Given the description of an element on the screen output the (x, y) to click on. 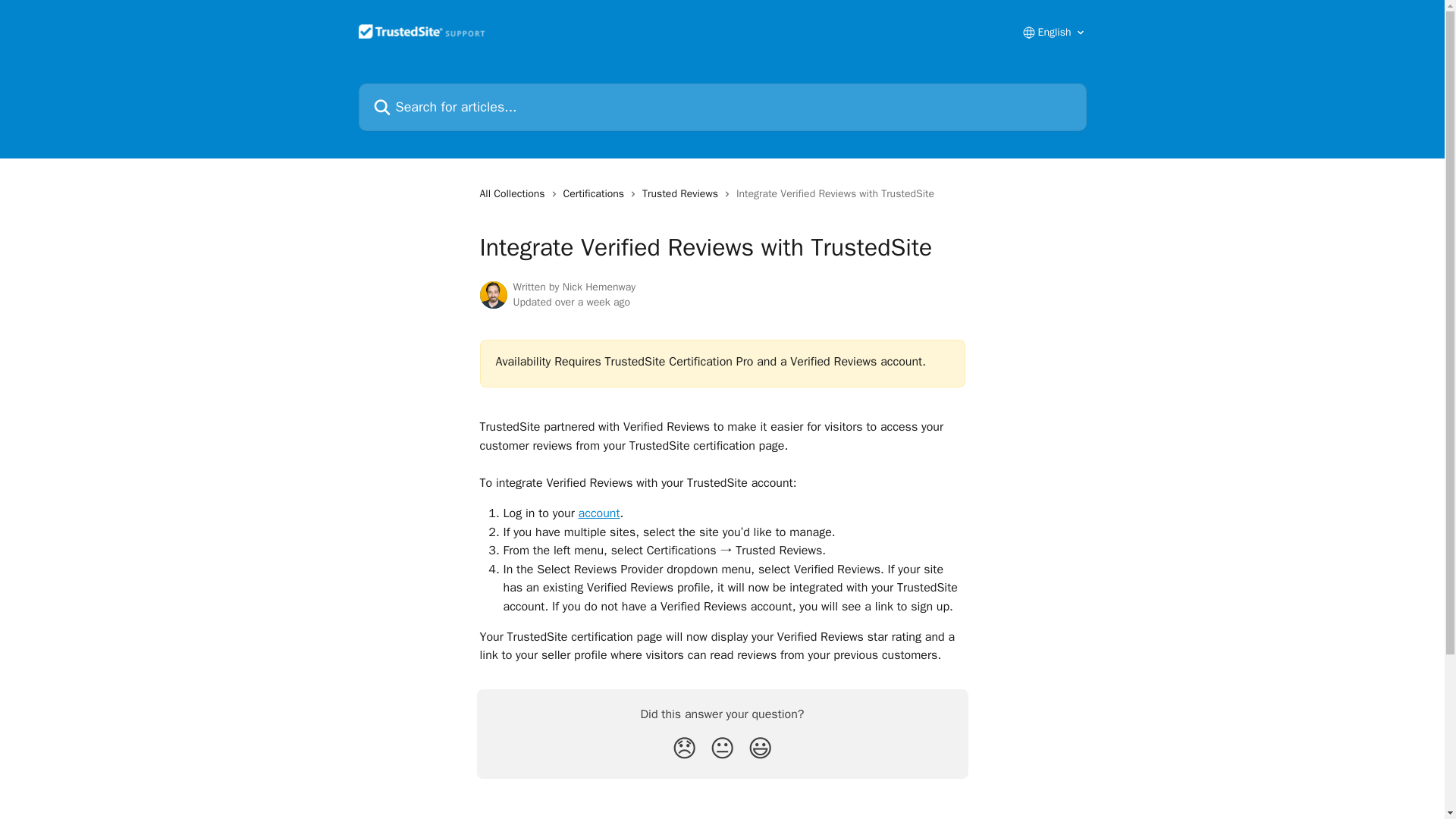
account (599, 513)
Certifications (596, 193)
All Collections (514, 193)
Trusted Reviews (682, 193)
